Given the description of an element on the screen output the (x, y) to click on. 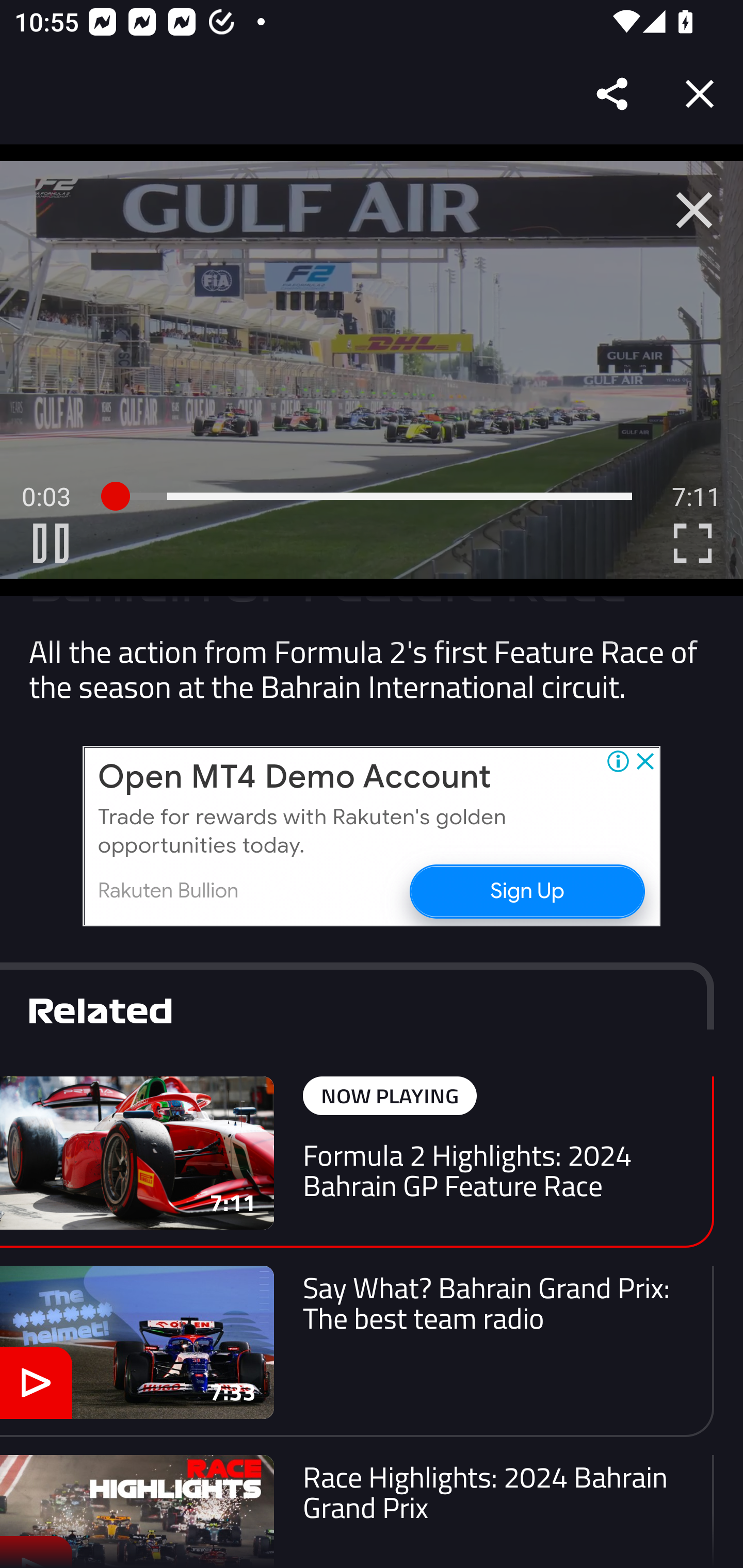
Share (612, 93)
Close (699, 93)
 Close (693, 210)
B Pause (50, 543)
C Enter Fullscreen (692, 543)
Open MT4 Demo Account (294, 777)
Sign Up (526, 890)
Rakuten Bullion (168, 891)
7:13 Race Highlights: 2024 Bahrain Grand Prix (357, 1511)
